Given the description of an element on the screen output the (x, y) to click on. 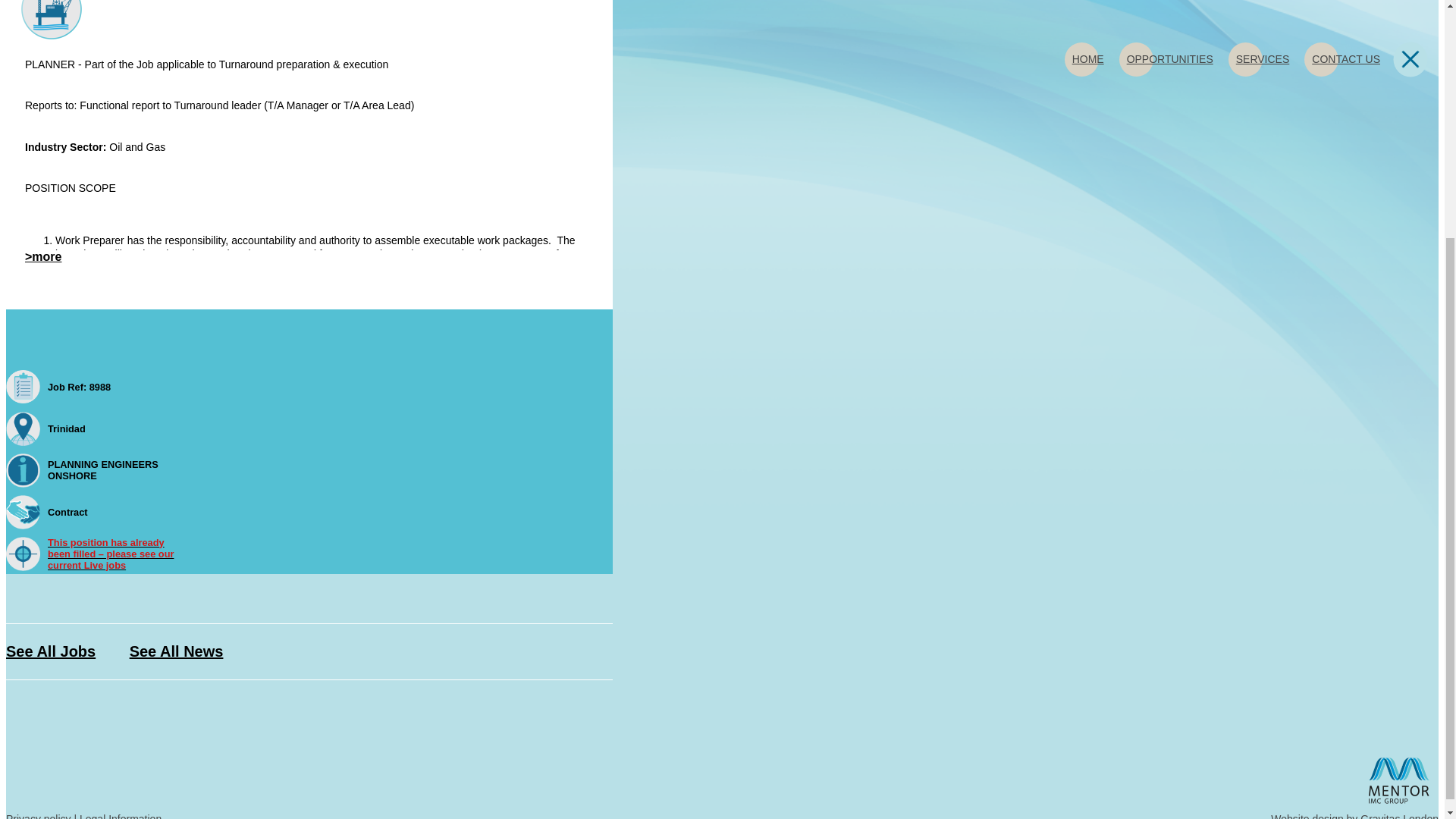
See All Jobs (50, 651)
See All News (176, 651)
